Given the description of an element on the screen output the (x, y) to click on. 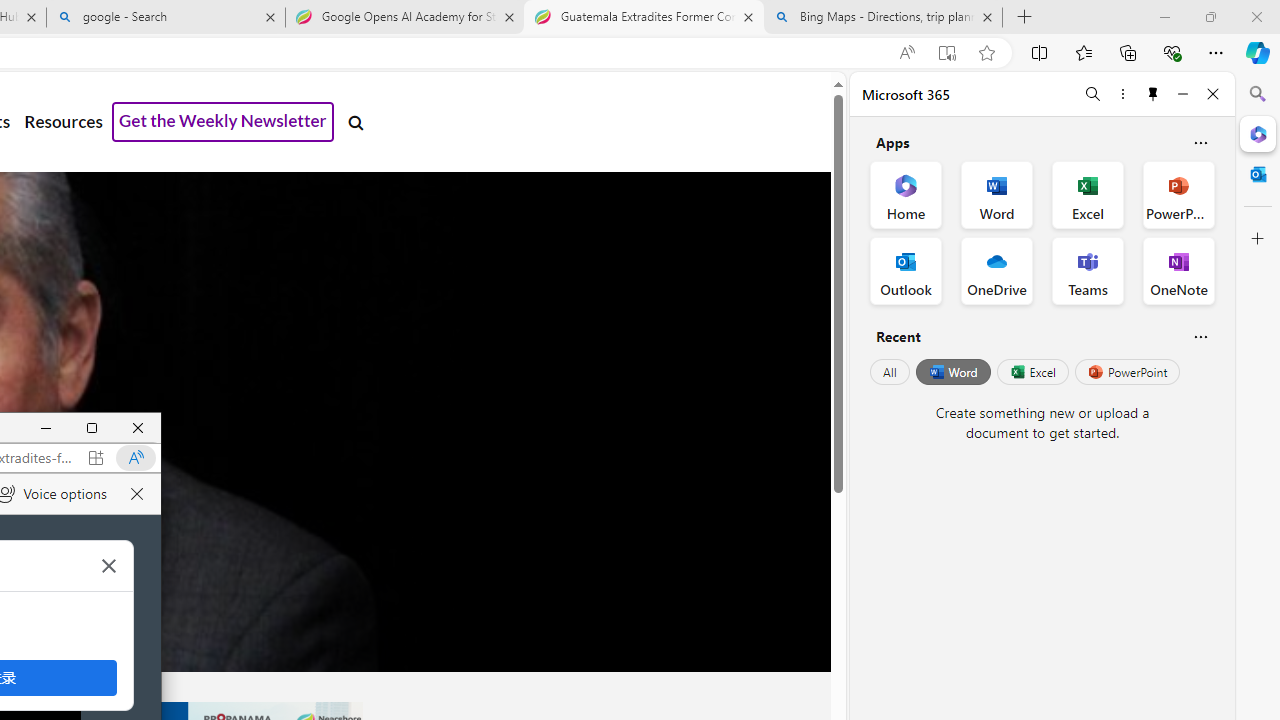
Word Office App (996, 194)
Word (952, 372)
Close read aloud (136, 493)
PowerPoint (1127, 372)
Home Office App (906, 194)
Class: Bz112c Bz112c-r9oPif (109, 565)
Outlook Office App (906, 270)
Get the Weekly Newsletter (223, 121)
